Given the description of an element on the screen output the (x, y) to click on. 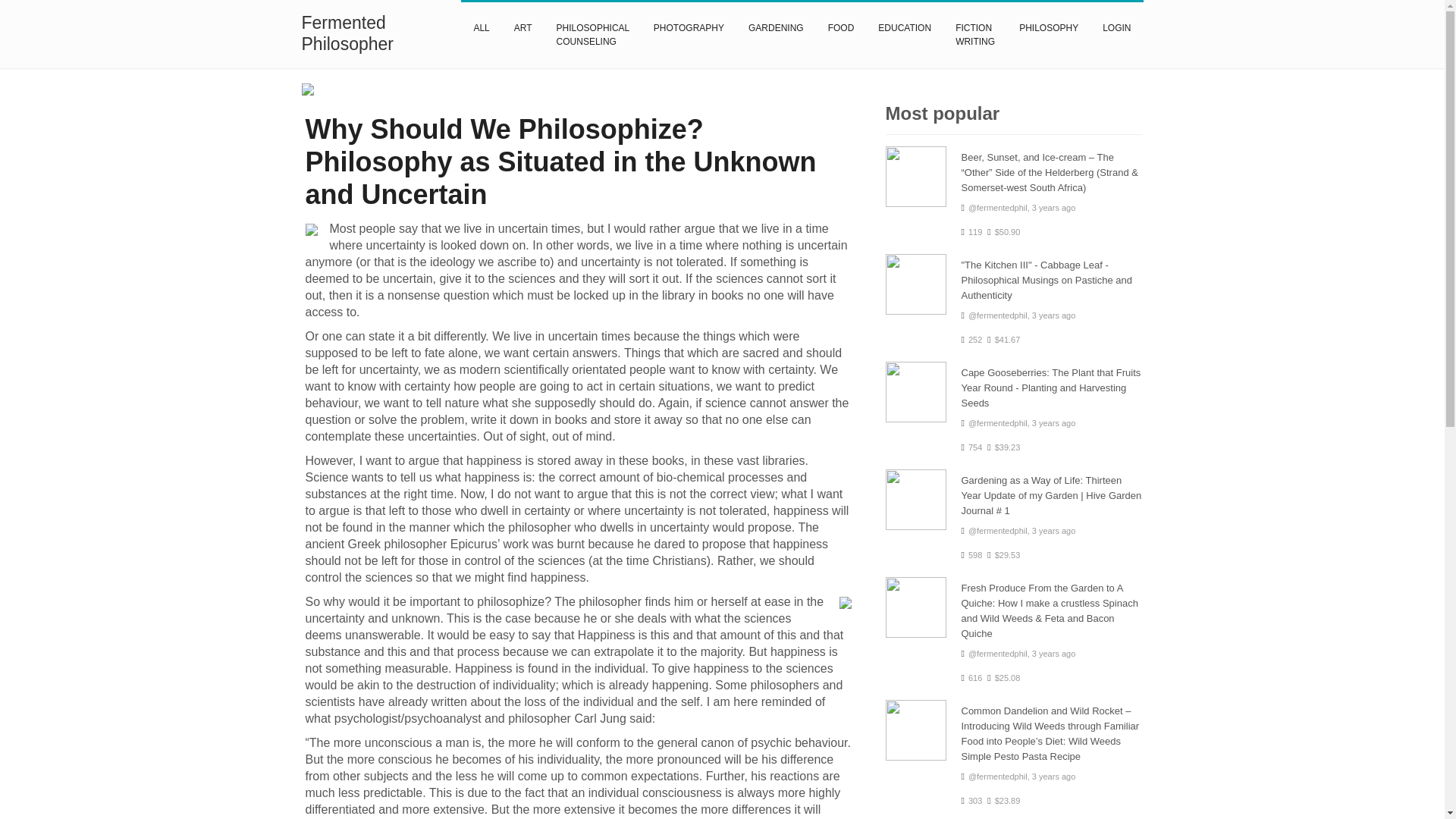
September 13, 2021 4:22 PM (1053, 653)
FICTION WRITING (975, 33)
September 9, 2021 5:54 PM (1053, 207)
PHILOSOPHY (1048, 27)
Fermented Philosopher (375, 33)
FOOD (840, 27)
September 7, 2021 5:09 PM (1053, 315)
September 12, 2021 7:05 PM (1053, 422)
EDUCATION (904, 27)
